Given the description of an element on the screen output the (x, y) to click on. 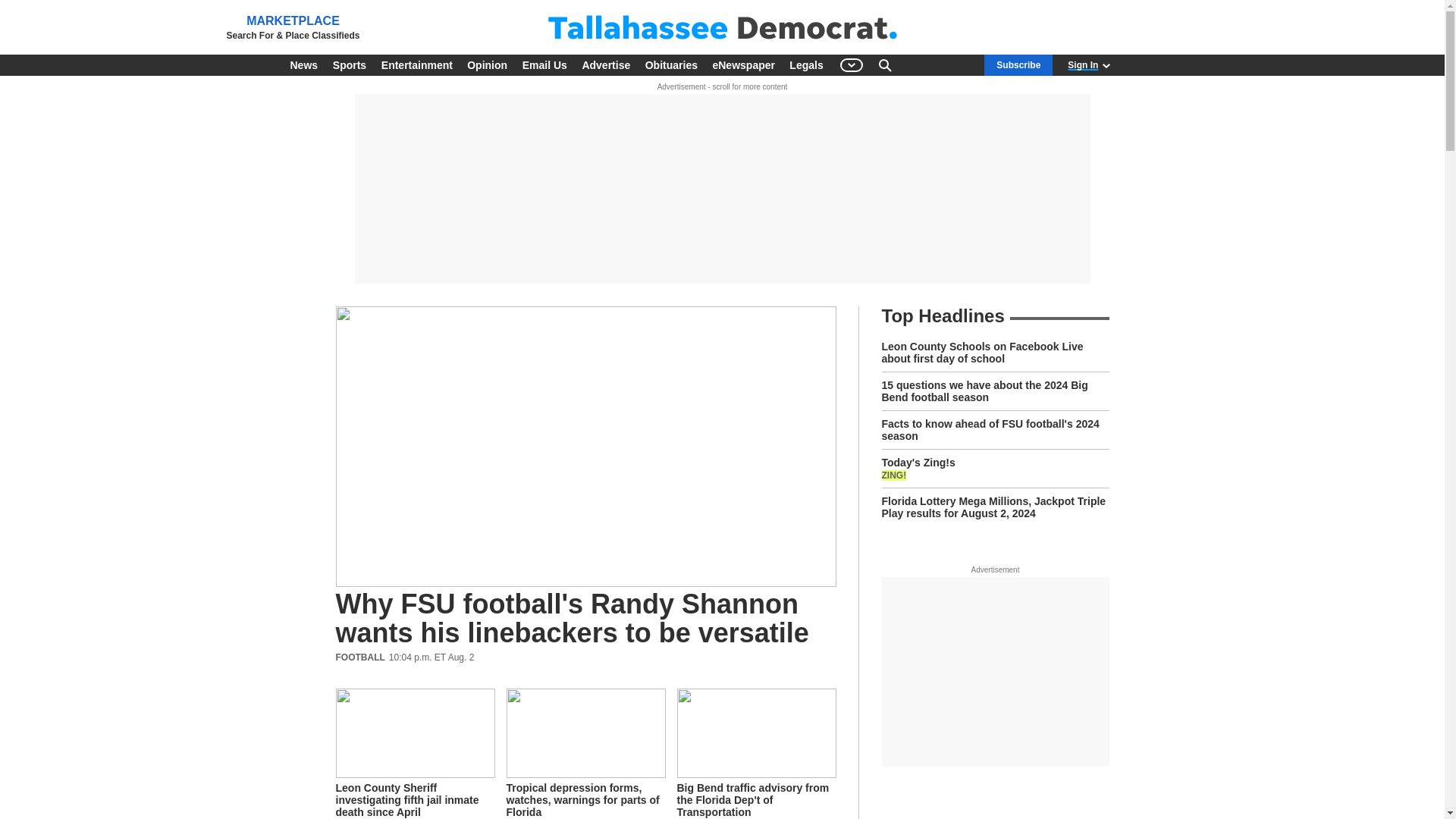
Opinion (486, 65)
Legals (805, 65)
Advertise (605, 65)
eNewspaper (742, 65)
Search (885, 65)
Email Us (545, 65)
Sports (349, 65)
Obituaries (670, 65)
Entertainment (417, 65)
News (303, 65)
